Given the description of an element on the screen output the (x, y) to click on. 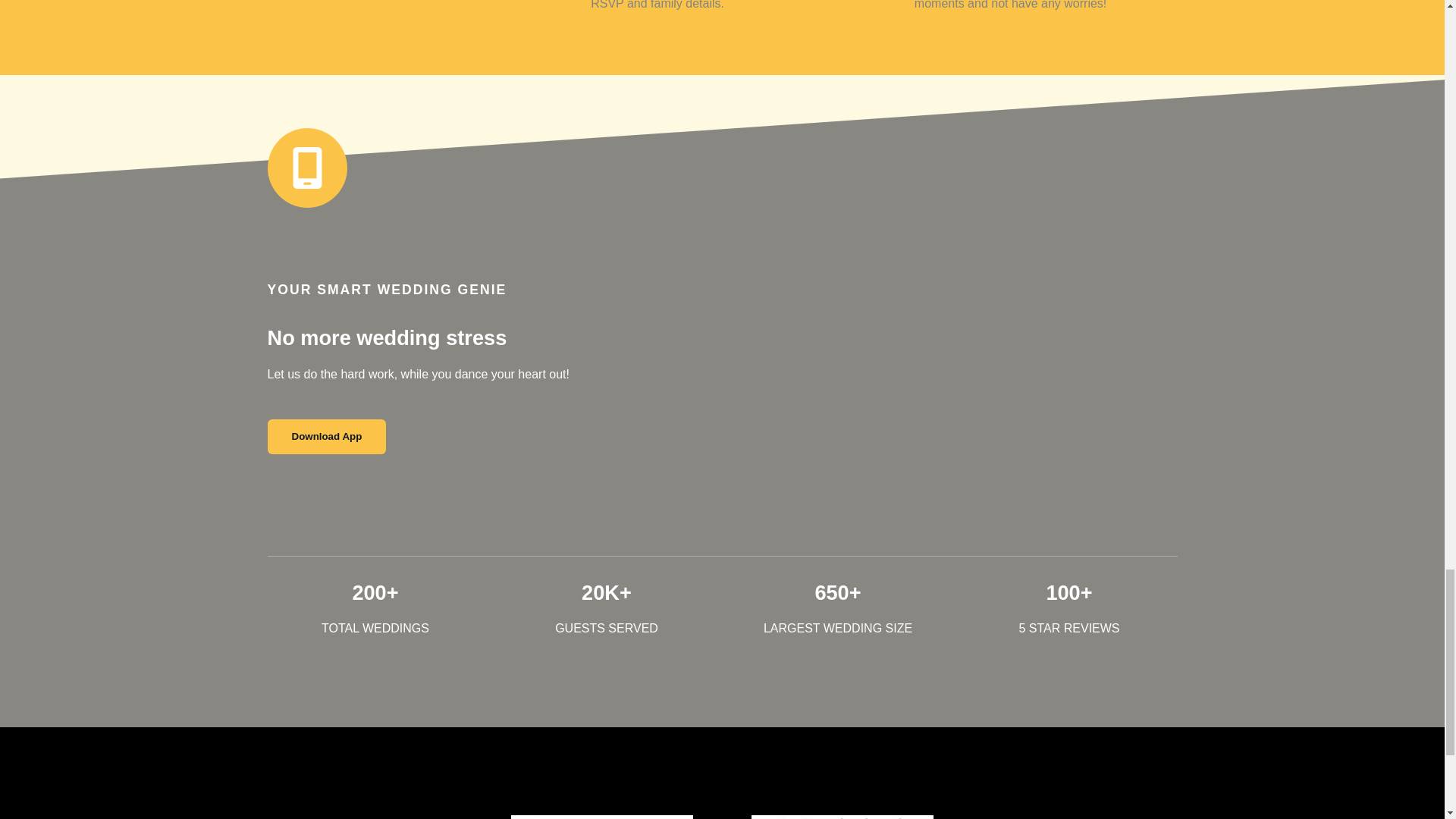
Download App (325, 436)
